Given the description of an element on the screen output the (x, y) to click on. 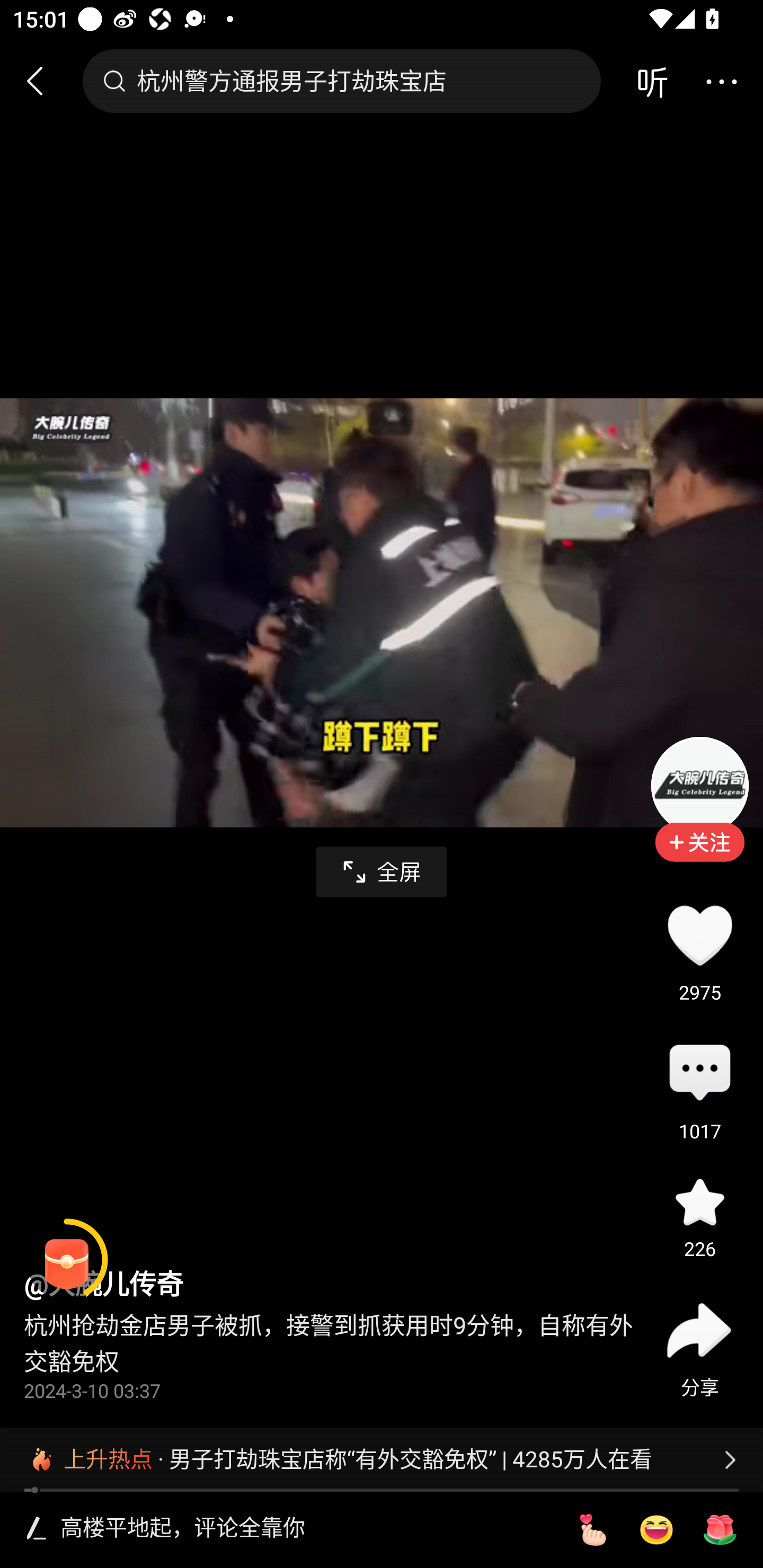
杭州警方通报男子打劫珠宝店 搜索框，杭州警方通报男子打劫珠宝店 (341, 80)
返回 (43, 80)
音频 (651, 80)
更多操作 (720, 80)
头像 (699, 785)
全屏播放 (381, 871)
点赞2975 2975 (699, 935)
评论1017 评论 1017 (699, 1074)
收藏 226 (699, 1201)
阅读赚金币 (66, 1259)
分享 (699, 1330)
上升热点  · 男子打劫珠宝店称“有外交豁免权”  | 4285万人在看 (381, 1459)
高楼平地起，评论全靠你 (305, 1529)
[比心] (592, 1530)
[大笑] (656, 1530)
[玫瑰] (719, 1530)
